Given the description of an element on the screen output the (x, y) to click on. 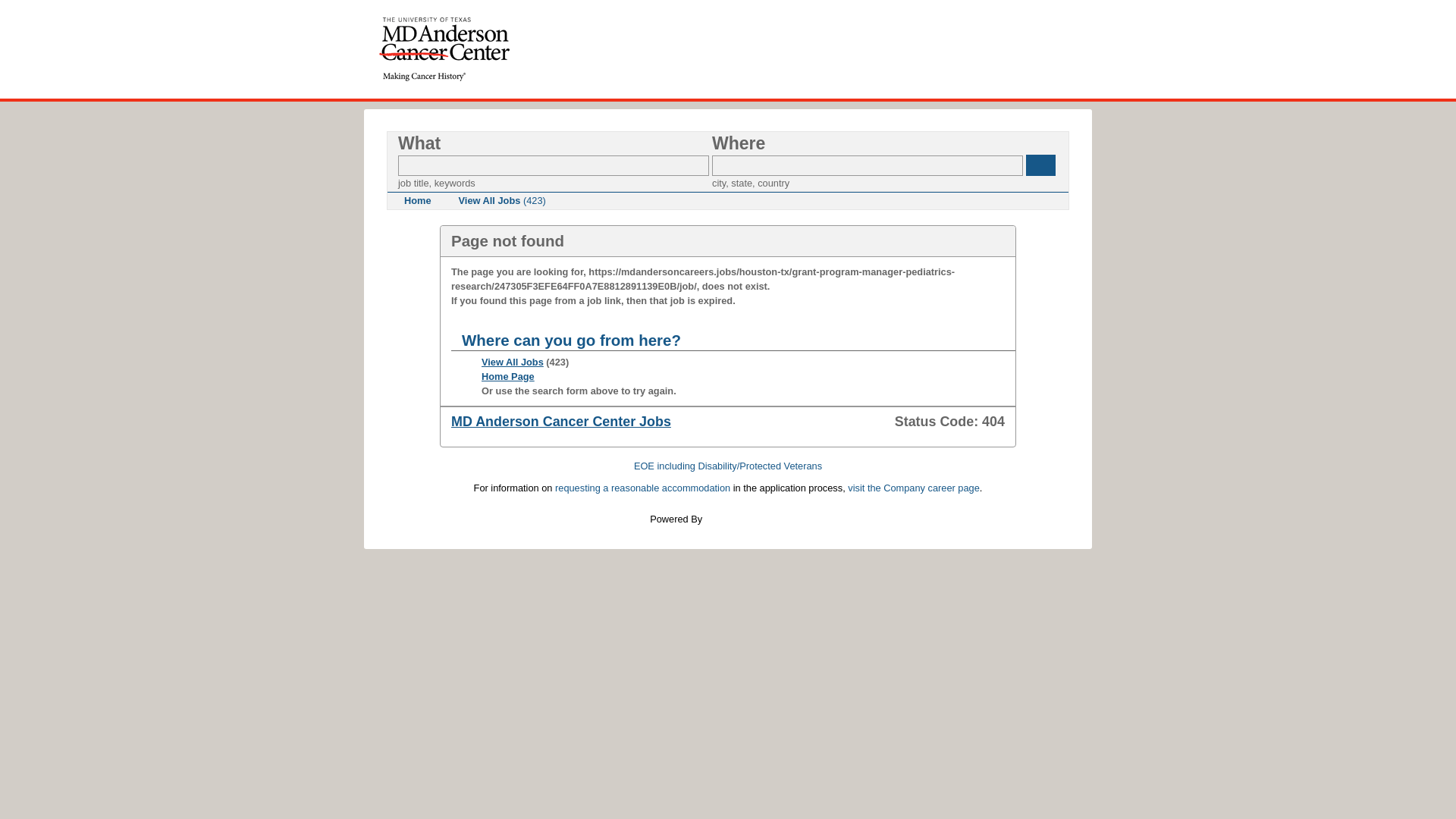
MD Anderson Cancer Center Jobs (561, 421)
search (1040, 165)
home (443, 49)
Home (417, 200)
View All Jobs (512, 361)
Submit Search (1040, 165)
Search Location (867, 165)
Search Phrase (553, 165)
requesting a reasonable accommodation (642, 487)
Home Page (507, 376)
